Given the description of an element on the screen output the (x, y) to click on. 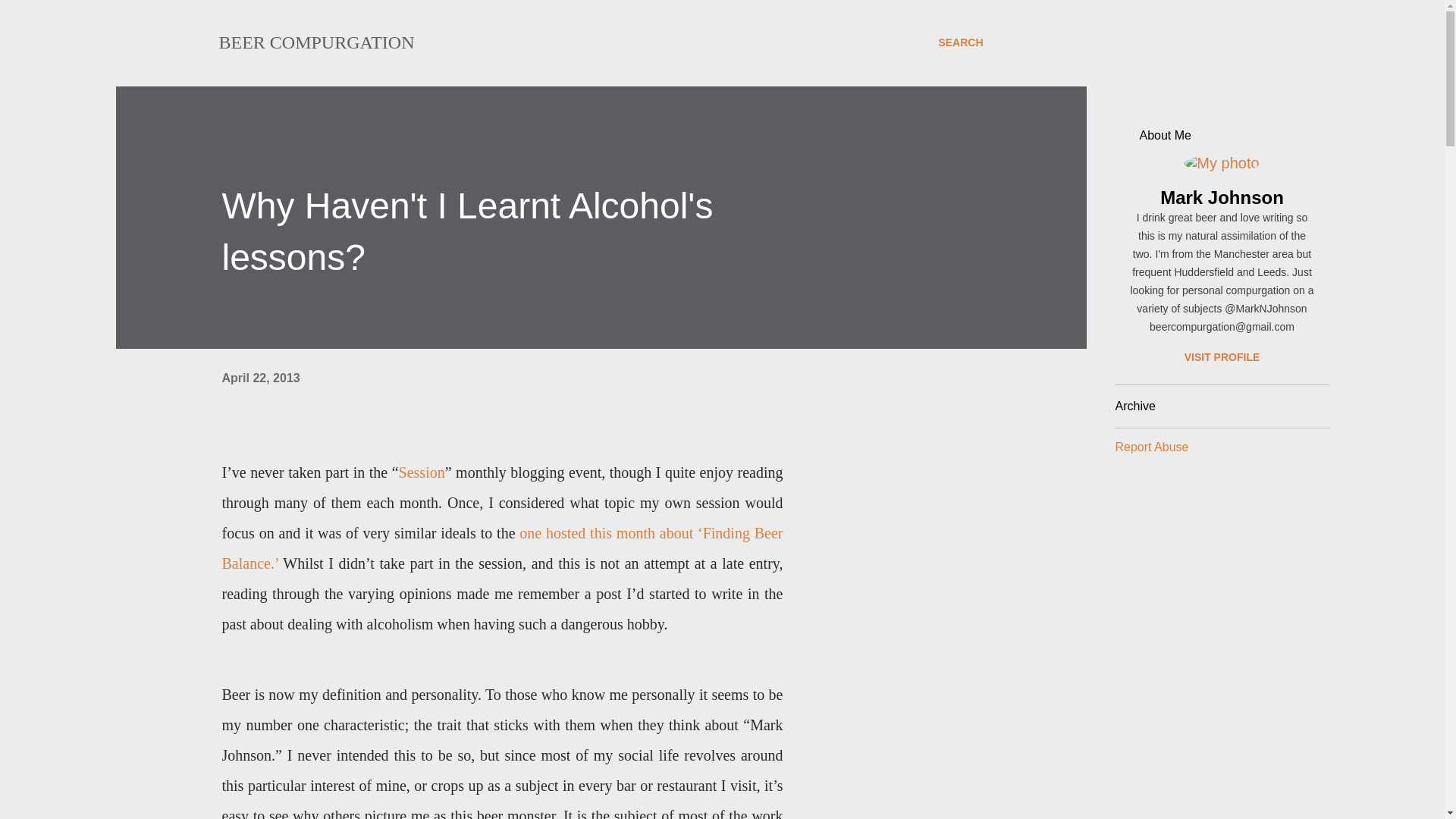
April 22, 2013 (260, 377)
SEARCH (959, 42)
permanent link (260, 377)
BEER COMPURGATION (315, 42)
Session (421, 472)
